Given the description of an element on the screen output the (x, y) to click on. 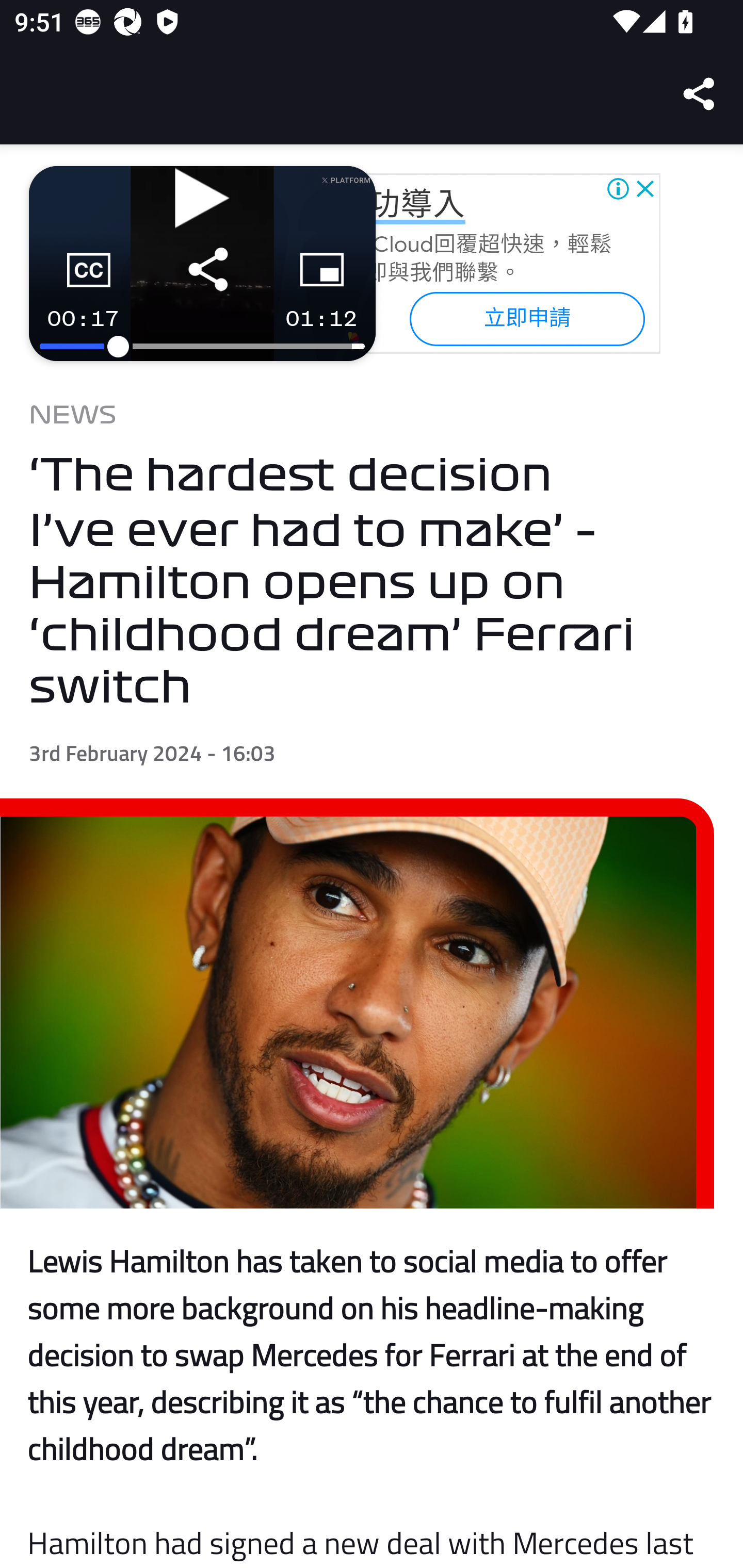
Share (699, 93)
立即申請 (526, 318)
